Given the description of an element on the screen output the (x, y) to click on. 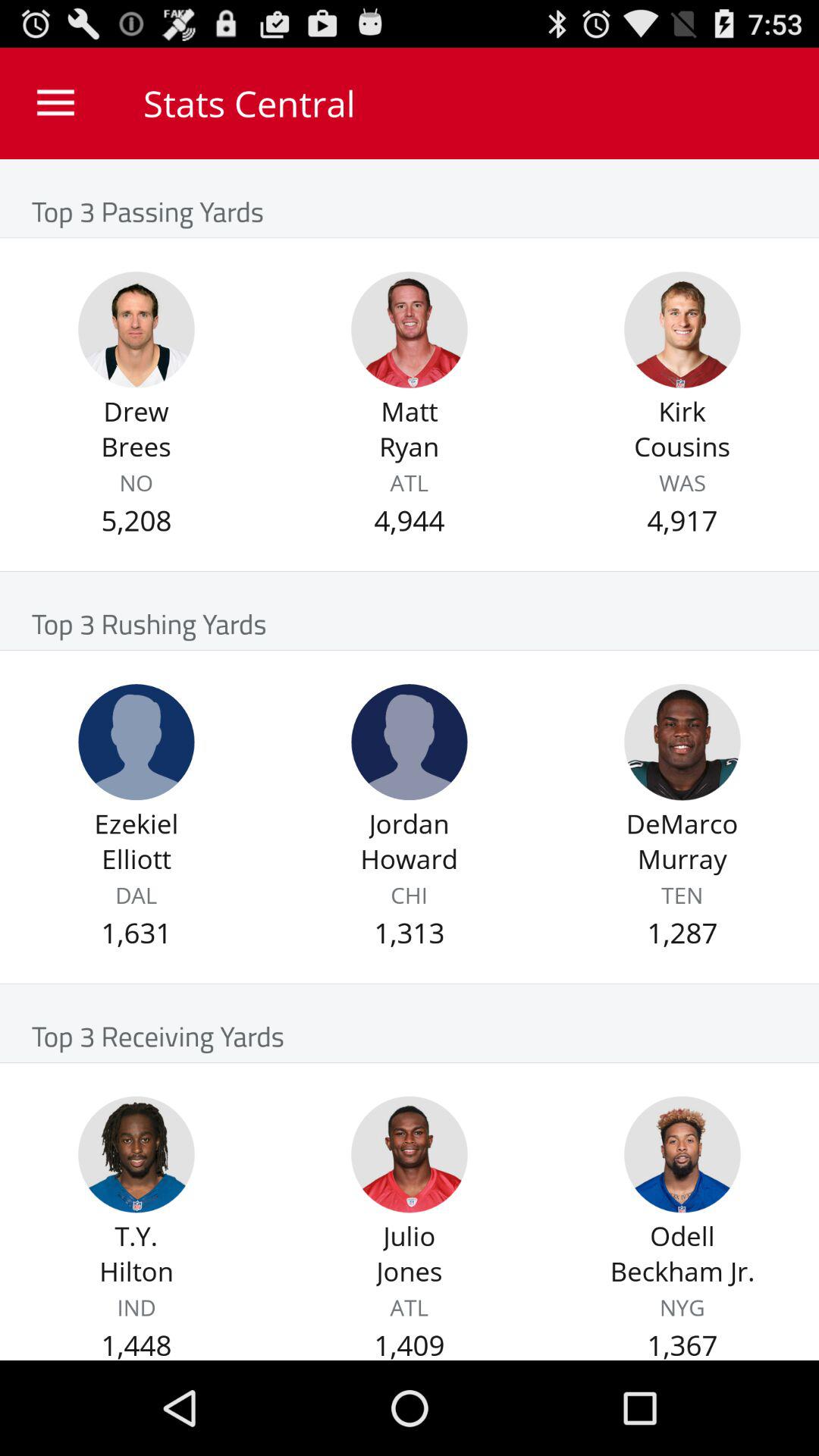
select player (682, 329)
